Given the description of an element on the screen output the (x, y) to click on. 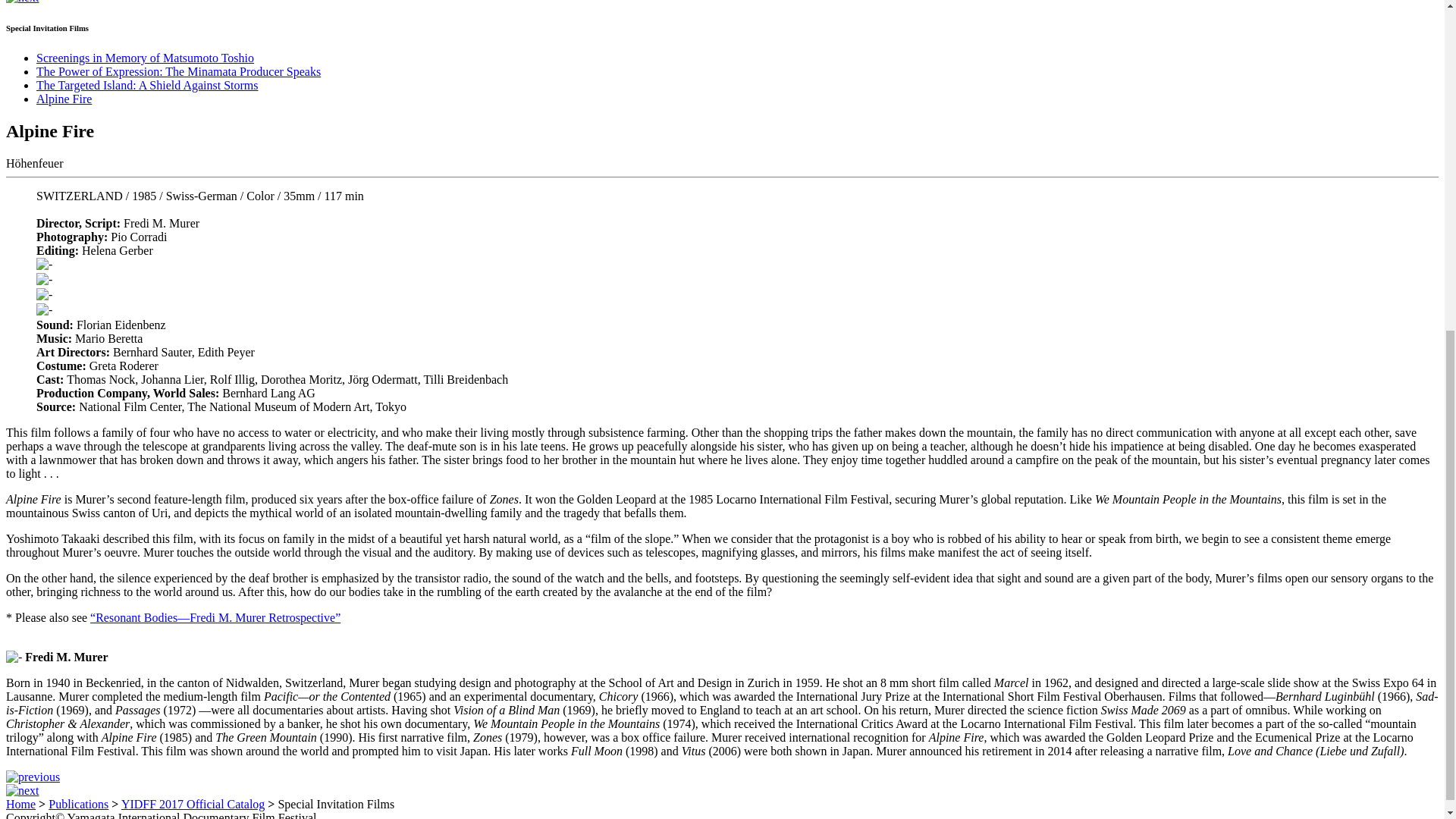
Alpine Fire (63, 98)
The Power of Expression: The Minamata Producer Speaks (178, 71)
next (22, 2)
The Targeted Island: A Shield Against Storms (147, 84)
Screenings in Memory of Matsumoto Toshio (144, 57)
previous (32, 776)
next (22, 789)
